Given the description of an element on the screen output the (x, y) to click on. 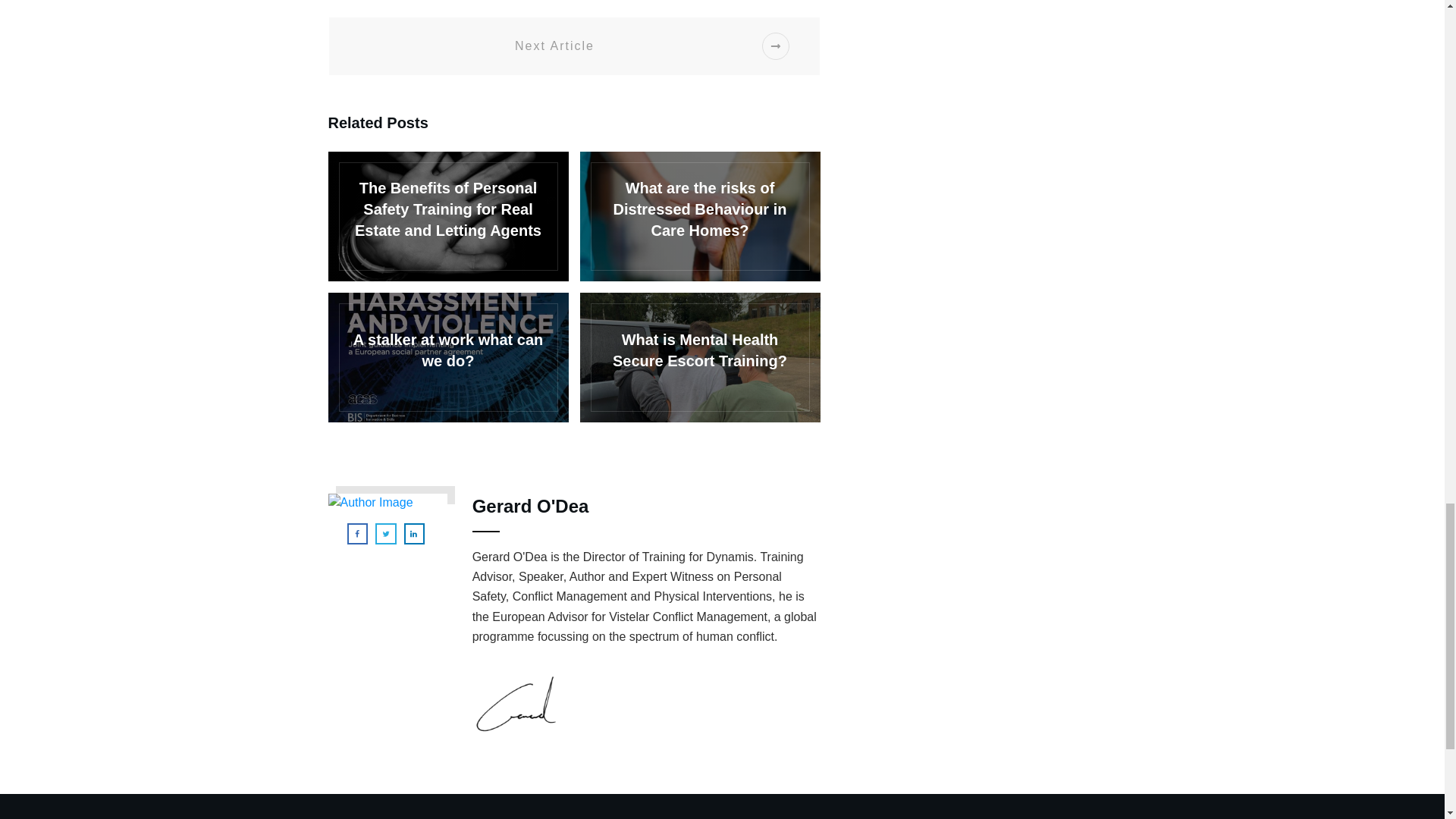
Ger Signature (514, 703)
